Given the description of an element on the screen output the (x, y) to click on. 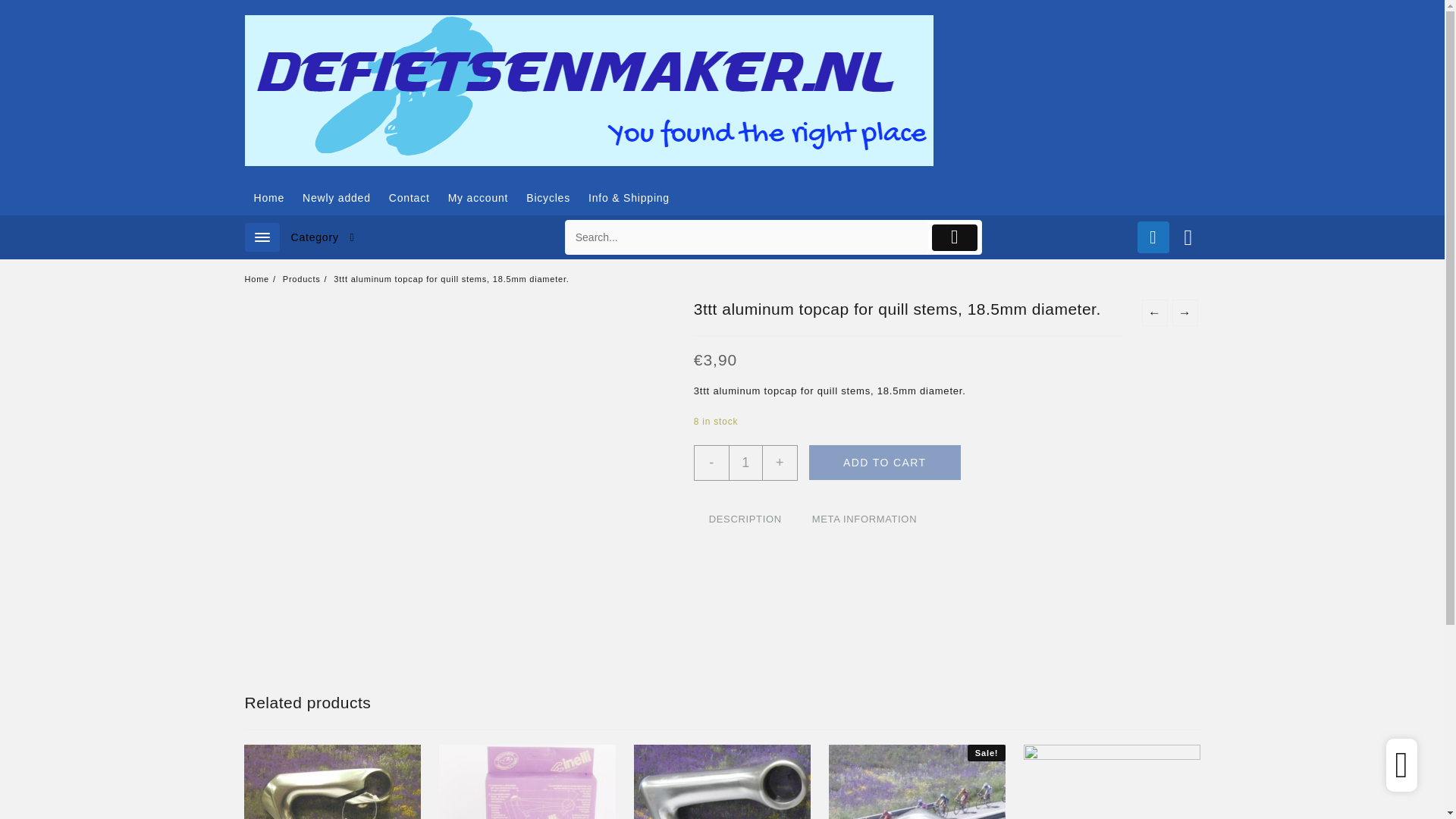
Search (747, 237)
1 (745, 462)
Contact (409, 197)
My account (478, 197)
Bicycles (547, 197)
Newly added (337, 197)
Home (269, 197)
